Given the description of an element on the screen output the (x, y) to click on. 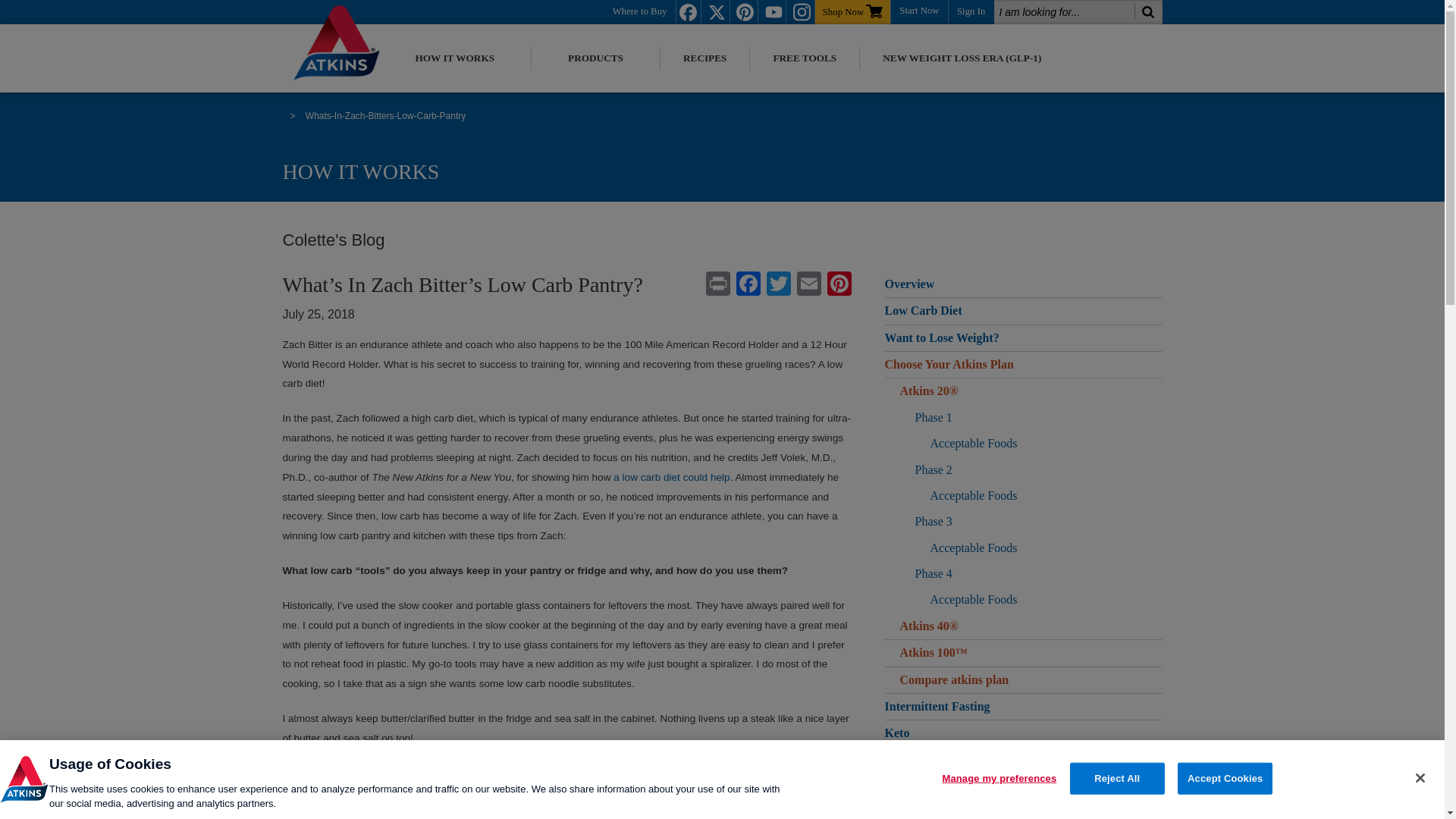
Email (808, 285)
Facebook (747, 285)
Twitter (777, 285)
Atkins (344, 42)
HOW IT WORKS (454, 57)
Start Now (919, 9)
RECIPES (705, 57)
Where to Buy (639, 11)
Shop Now (852, 10)
Atkins Nutritionals (24, 779)
